Given the description of an element on the screen output the (x, y) to click on. 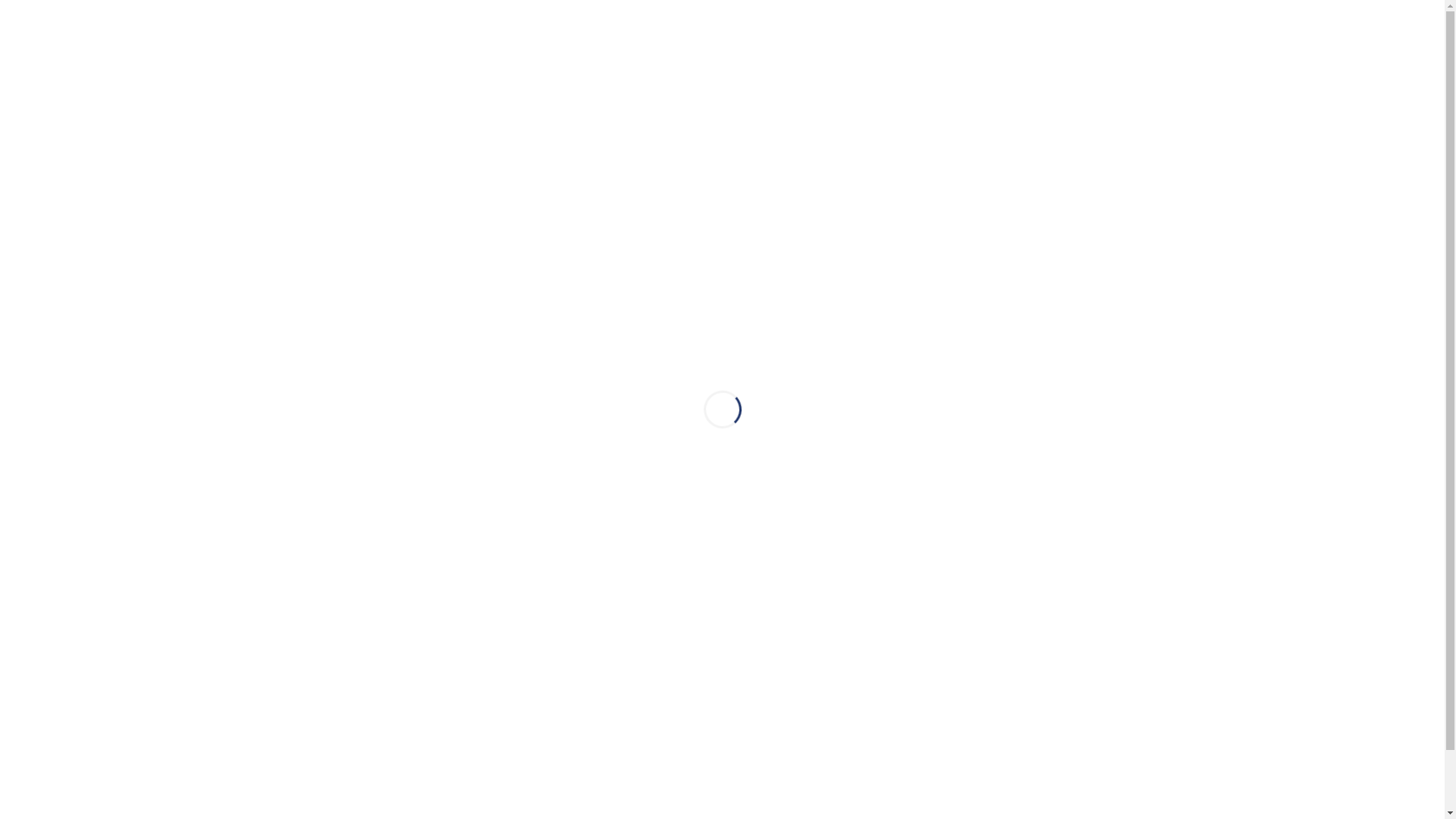
About Element type: text (41, 212)
Distribution network Element type: text (78, 359)
Testimonials Element type: text (1061, 178)
Contact us Element type: text (53, 448)
Combating corruption Element type: text (814, 178)
To place an order Element type: text (72, 271)
EN Element type: text (1381, 37)
Publication Element type: text (53, 418)
Testimonials Element type: text (324, 31)
Rewards Element type: text (602, 178)
RU Element type: text (1342, 37)
Company management Element type: text (501, 178)
Business activities Element type: text (74, 389)
Products Element type: text (49, 242)
Our clients / Consumers Element type: text (951, 178)
History Element type: text (405, 178)
About company Element type: text (324, 178)
History Element type: text (383, 31)
Reports Element type: text (720, 178)
Holding Element type: text (662, 178)
Service Element type: text (46, 330)
Quality System Element type: text (64, 301)
BY Element type: text (1420, 37)
Product selection Element type: text (72, 475)
